Given the description of an element on the screen output the (x, y) to click on. 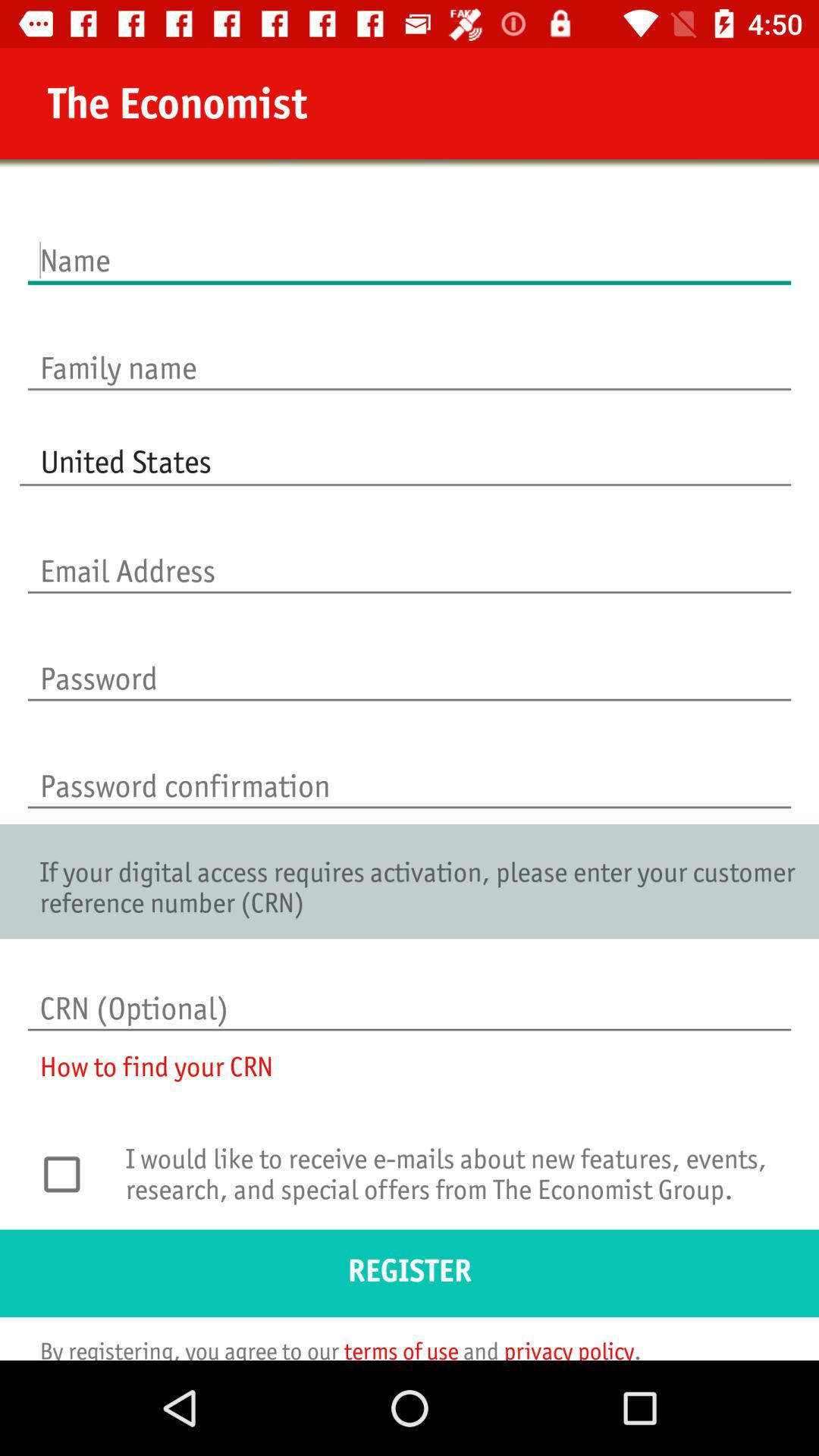
enter your password (409, 662)
